Given the description of an element on the screen output the (x, y) to click on. 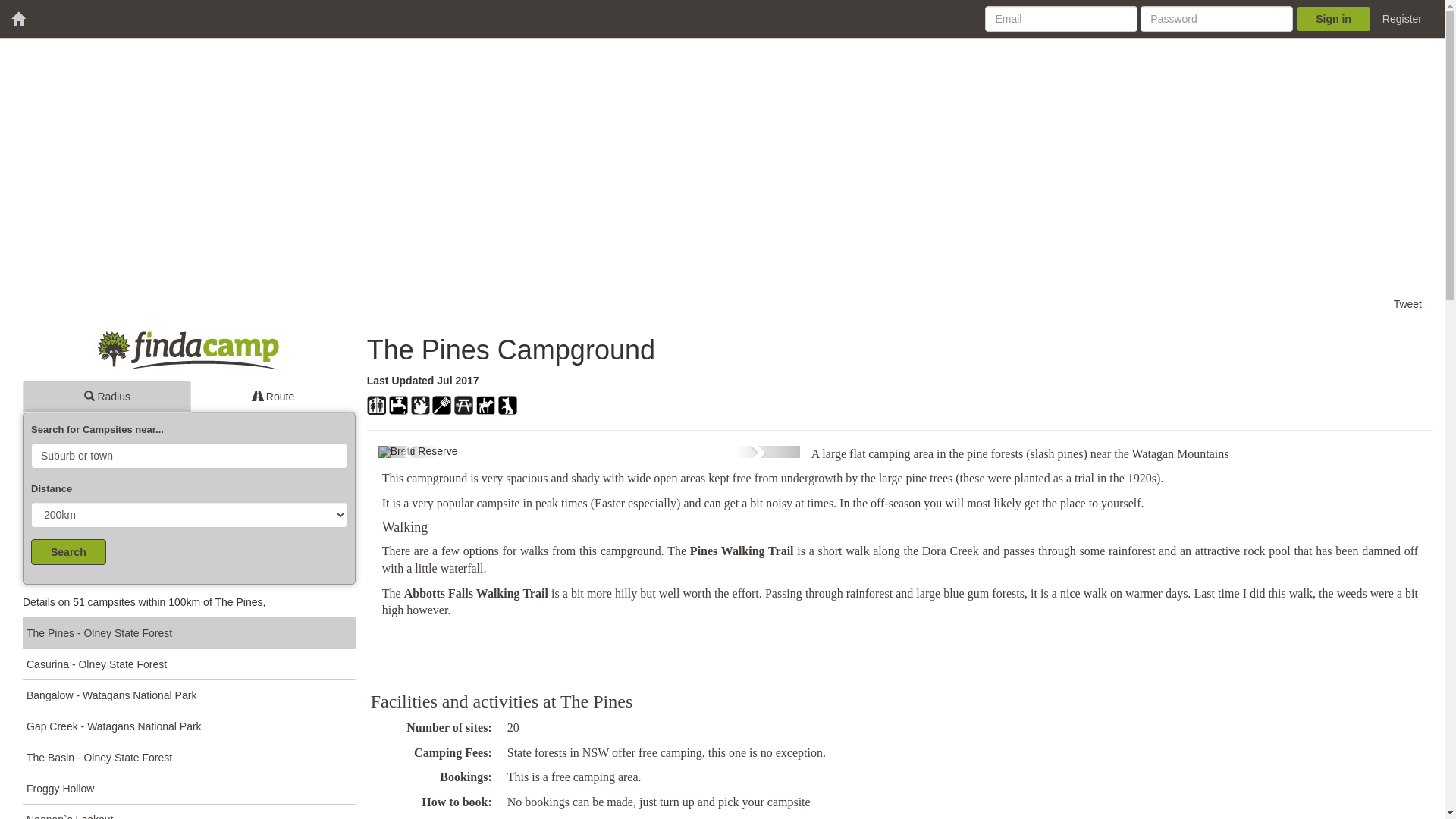
Previous Element type: text (409, 451)
Search Element type: text (68, 551)
Bretti Reserve Element type: hover (589, 451)
Bangalow - Watagans National Park Element type: text (189, 694)
Froggy Hollow Element type: text (189, 787)
Register Element type: text (1402, 18)
Casurina - Olney State Forest Element type: text (189, 663)
Tweet Element type: text (1407, 304)
The Pines - Olney State Forest Element type: text (189, 632)
Findacamp Home Page Element type: hover (188, 356)
Gap Creek - Watagans National Park Element type: text (189, 725)
Advertisement Element type: hover (555, 649)
Radius Element type: text (106, 396)
Next Element type: text (767, 451)
The Basin - Olney State Forest Element type: text (189, 756)
Route Element type: text (272, 396)
Sign in Element type: text (1333, 18)
Advertisement Element type: hover (477, 159)
